Given the description of an element on the screen output the (x, y) to click on. 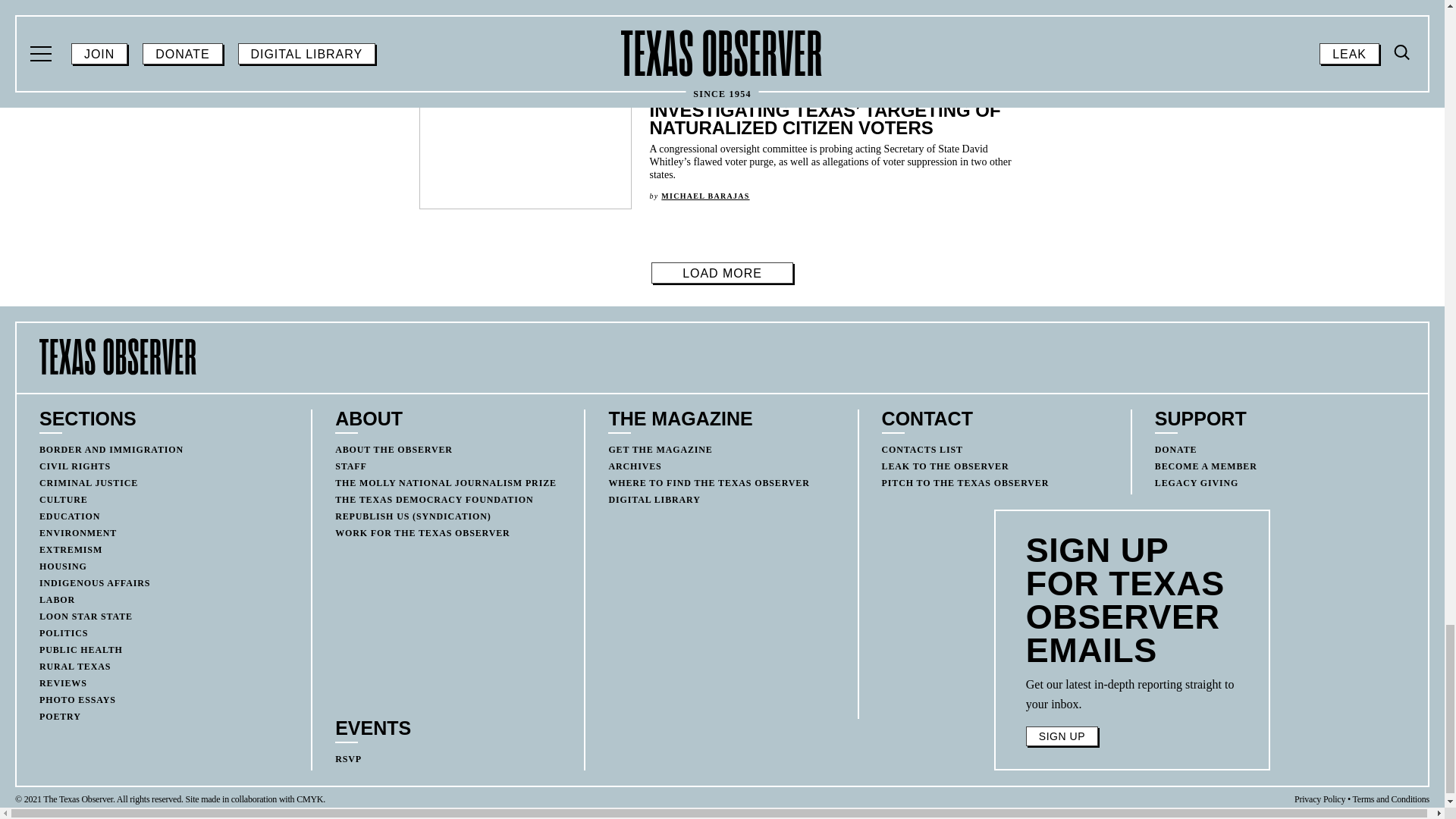
Page 6 (1132, 694)
Post by Michael Barajas (705, 195)
